Given the description of an element on the screen output the (x, y) to click on. 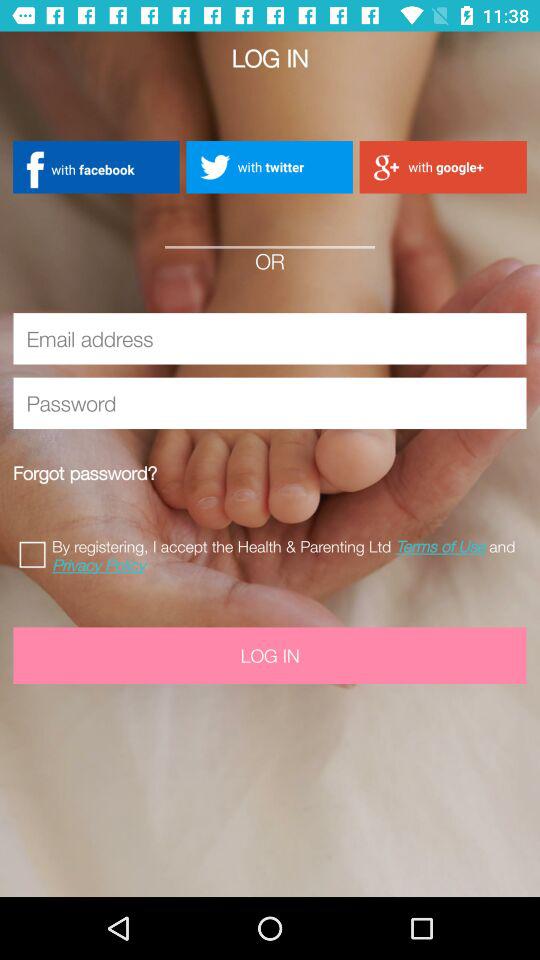
password (269, 403)
